Given the description of an element on the screen output the (x, y) to click on. 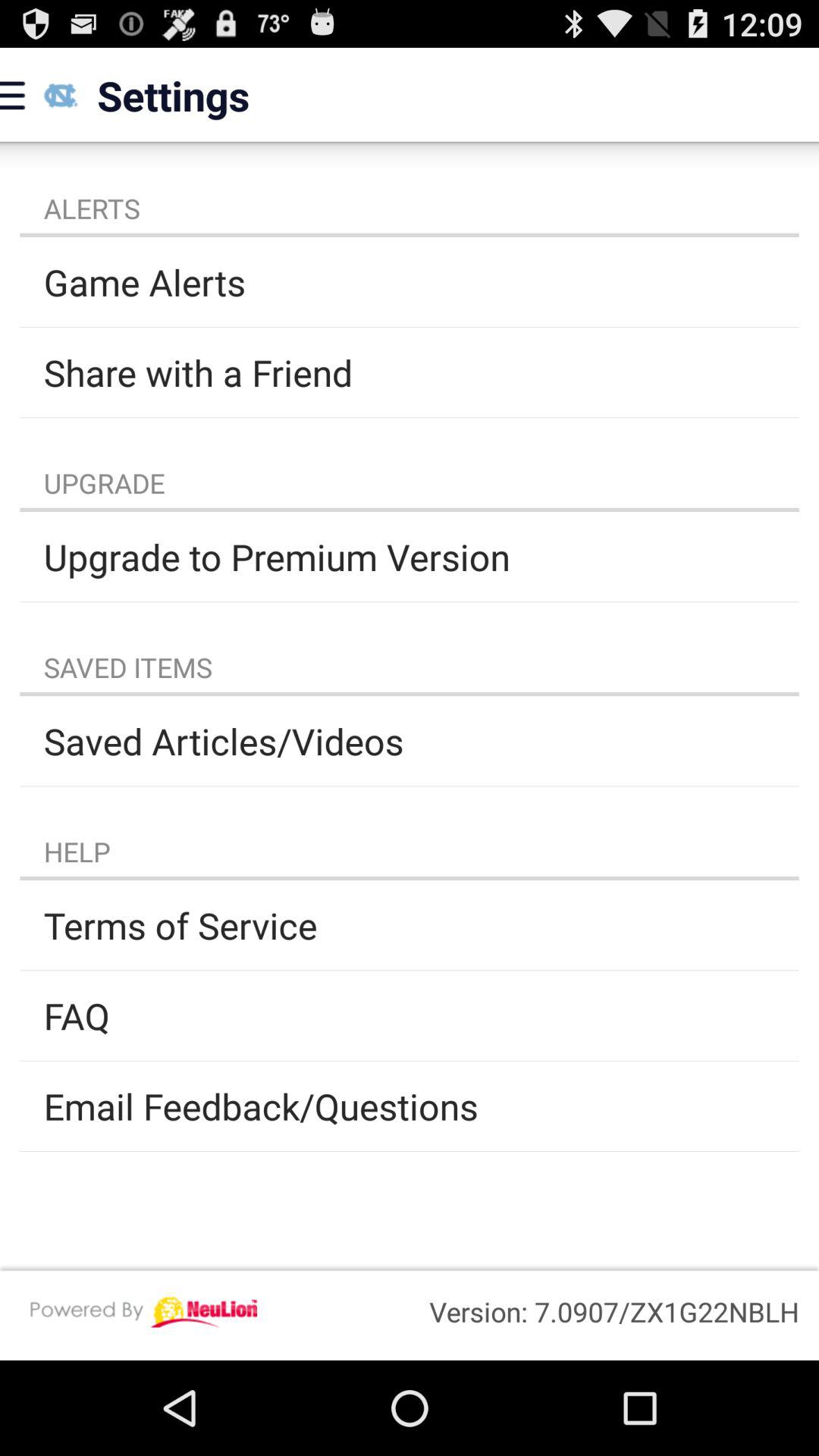
press item to the left of version 7 0907 icon (143, 1312)
